Given the description of an element on the screen output the (x, y) to click on. 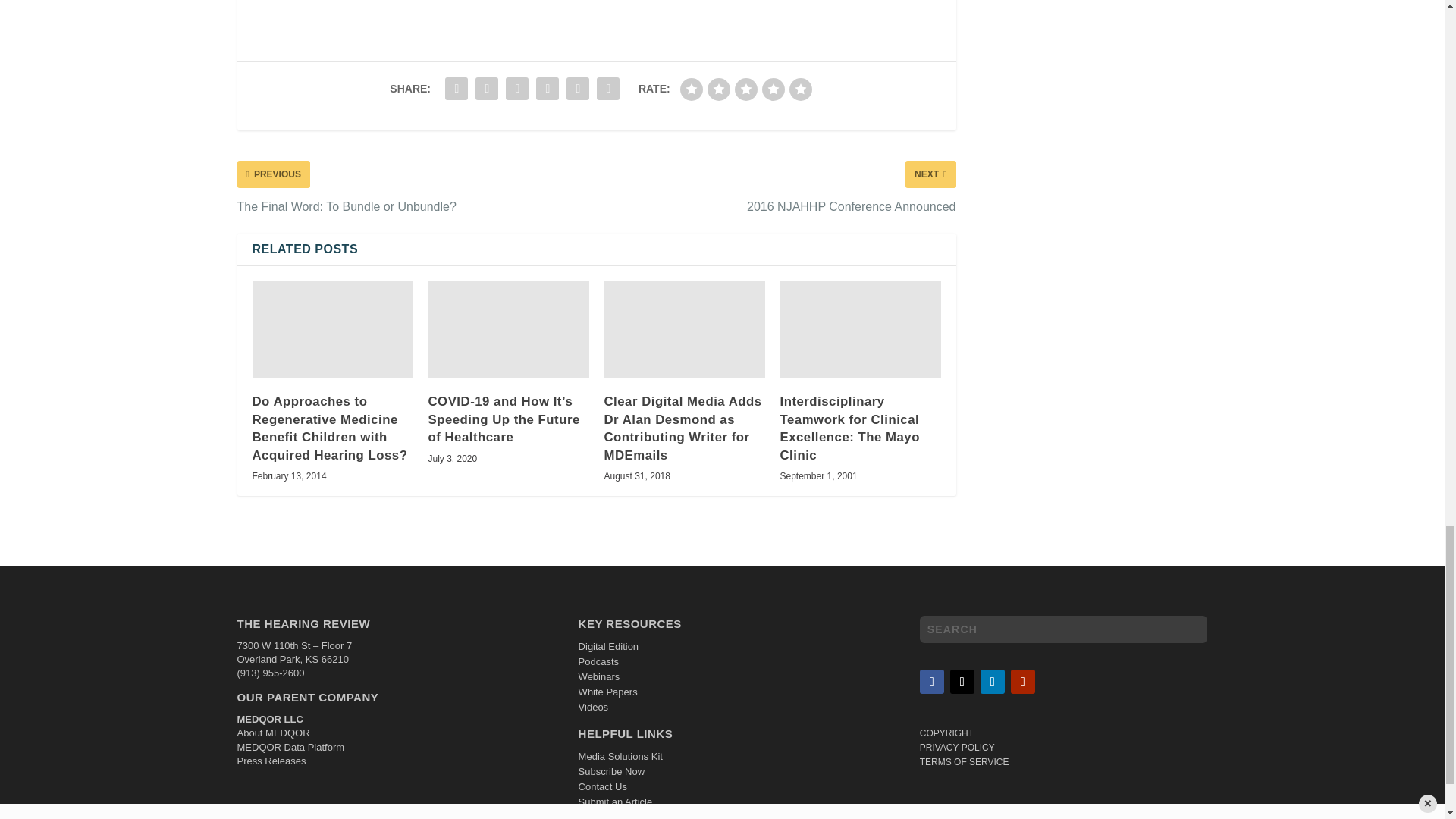
bad (691, 88)
